Given the description of an element on the screen output the (x, y) to click on. 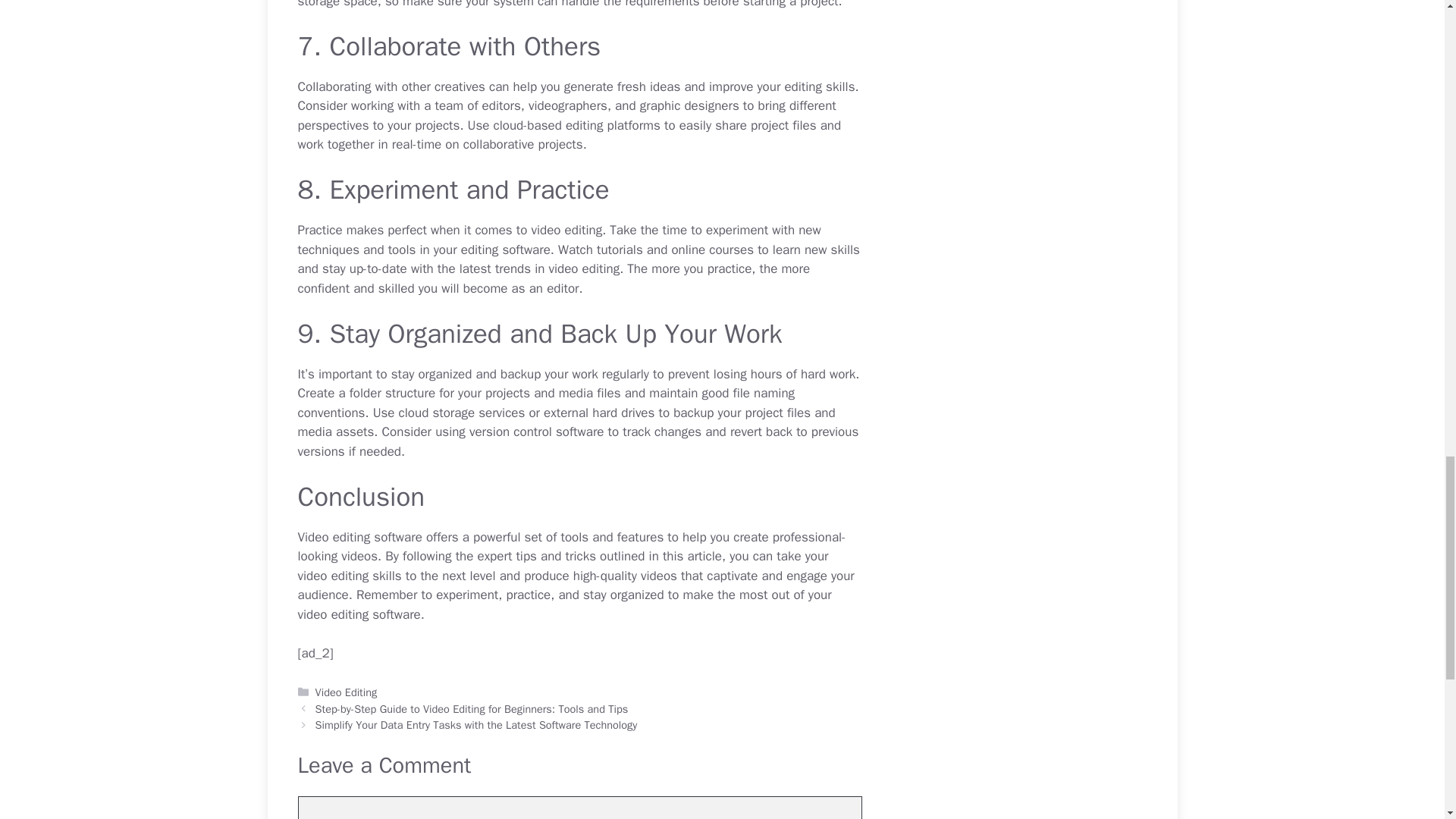
Video Editing (346, 692)
